Given the description of an element on the screen output the (x, y) to click on. 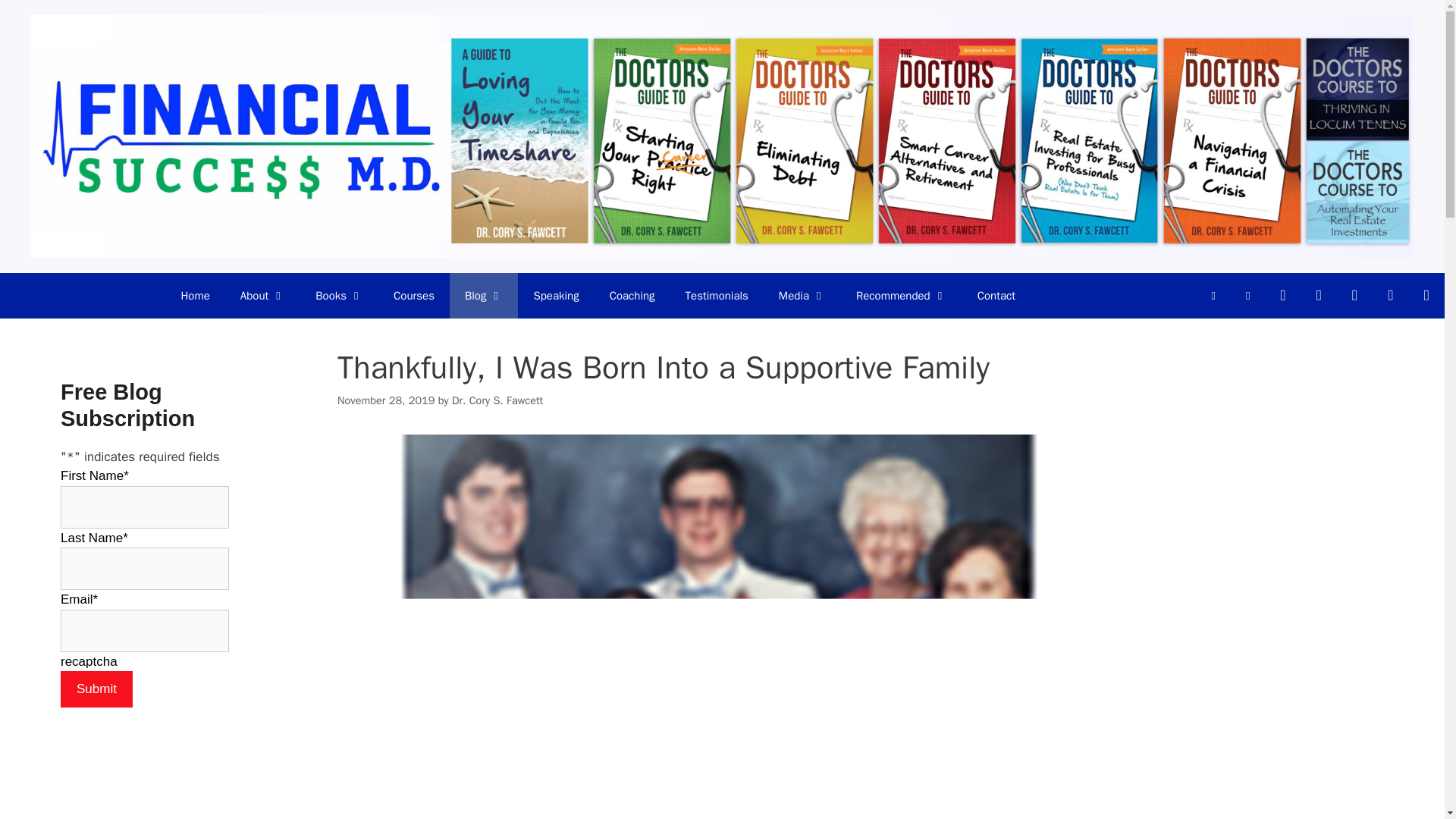
Media (801, 295)
About (262, 295)
Coaching (631, 295)
Speaking (556, 295)
Home (194, 295)
Recommended (901, 295)
Books (338, 295)
Courses (413, 295)
Blog (483, 295)
View all posts by Dr. Cory S. Fawcett (497, 400)
Submit (96, 688)
Testimonials (715, 295)
Contact (996, 295)
